Given the description of an element on the screen output the (x, y) to click on. 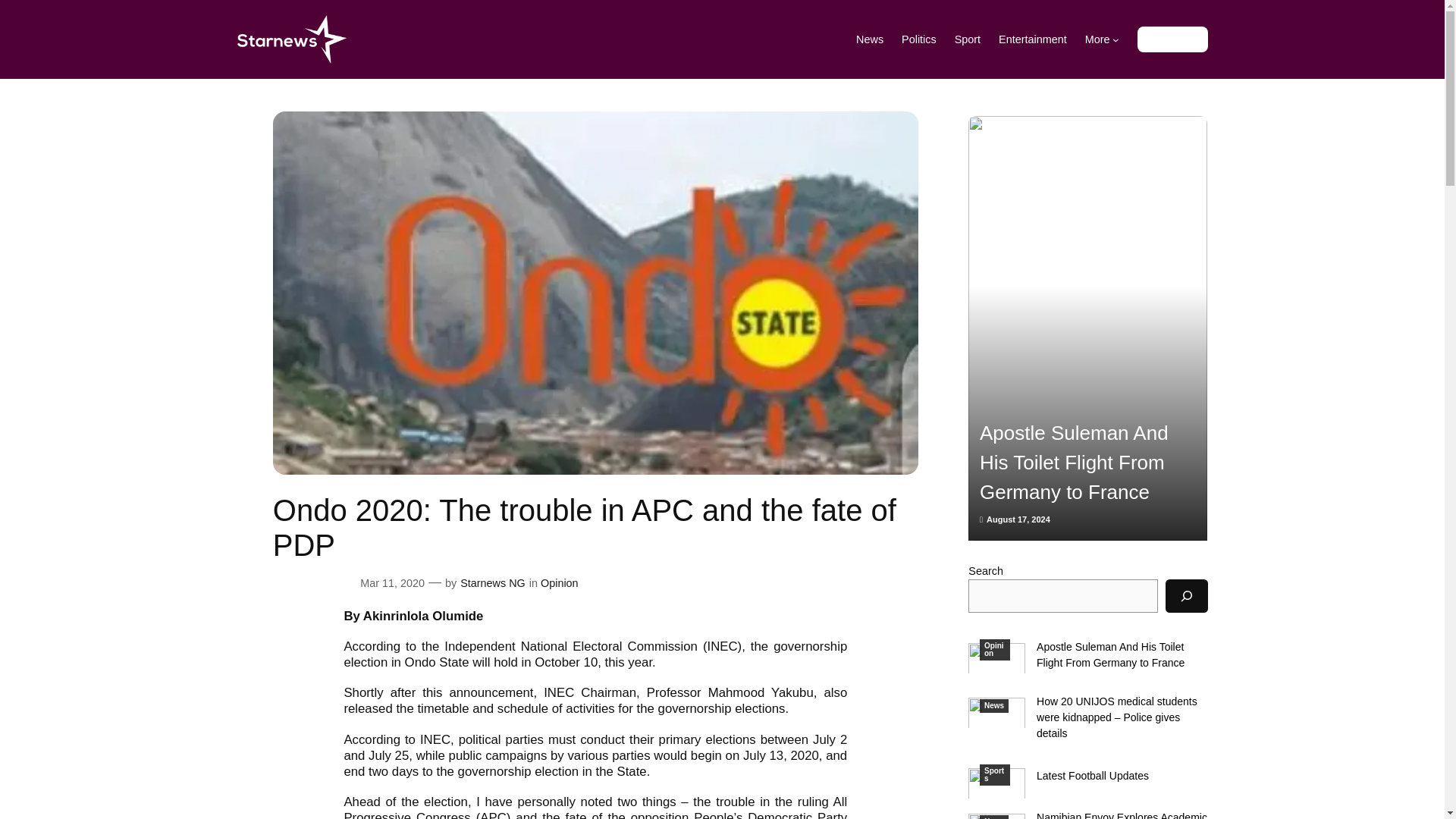
Apostle Suleman And His Toilet Flight From Germany to France (1121, 654)
News (994, 705)
Sport (967, 38)
Starnews NG (492, 582)
Apostle Suleman And His Toilet Flight From Germany to France (1087, 463)
Get The App (1172, 39)
News (869, 38)
Opinion (559, 582)
Opinion (994, 649)
More (1101, 38)
